Given the description of an element on the screen output the (x, y) to click on. 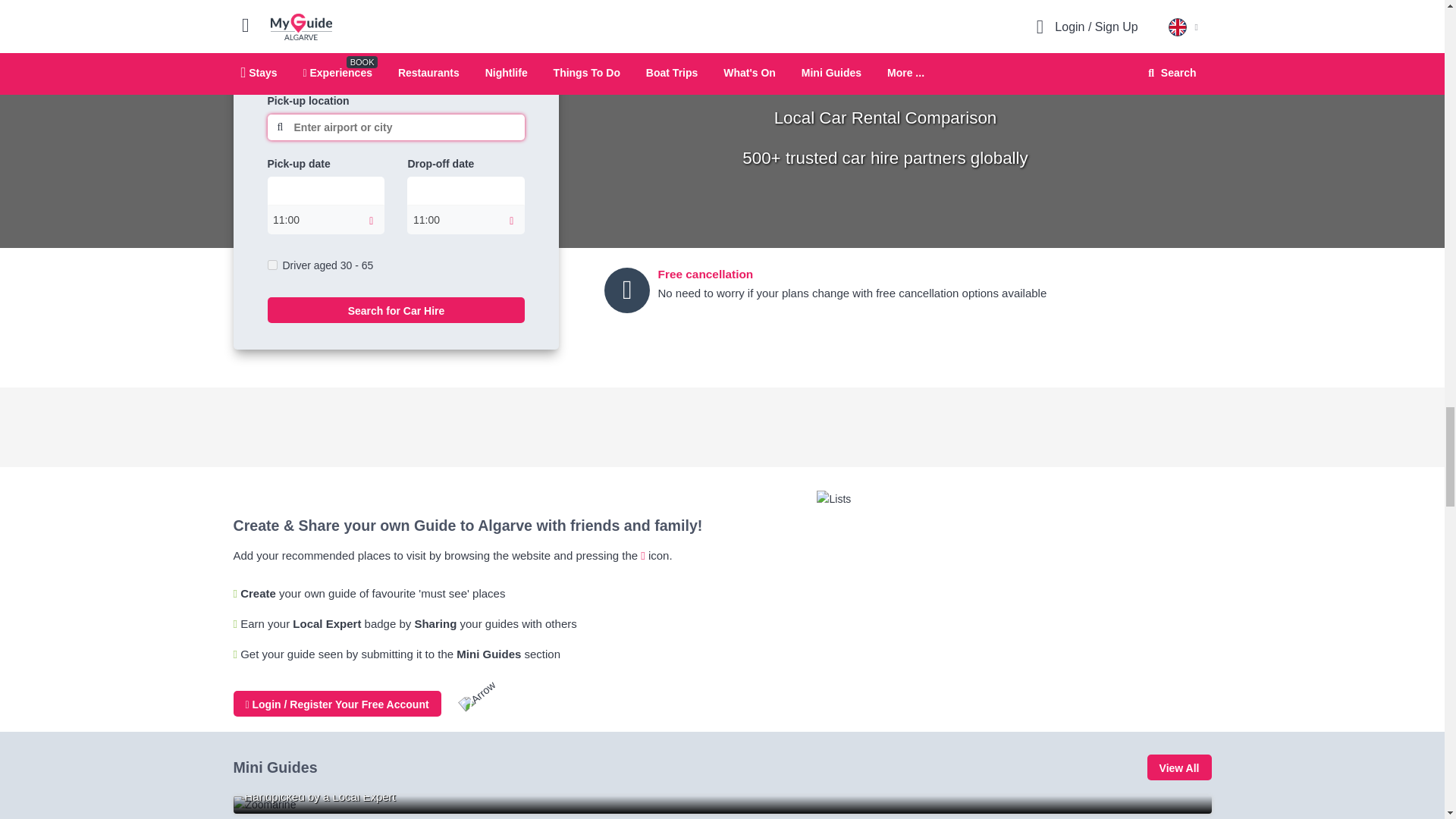
on (271, 265)
Fun Activities in Algarve (721, 804)
